Given the description of an element on the screen output the (x, y) to click on. 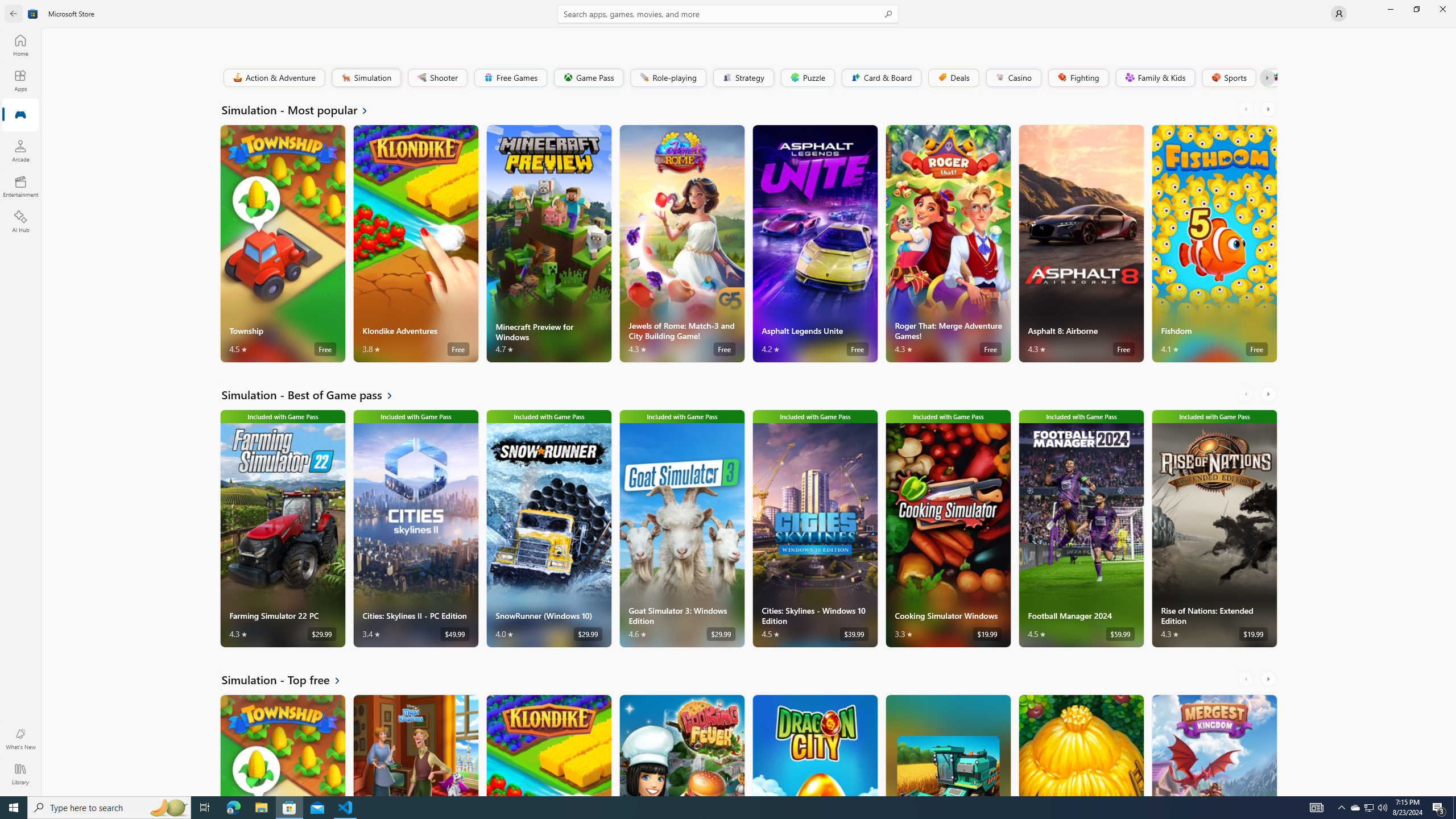
Entertainment (20, 185)
Minimize Microsoft Store (1390, 9)
See all  Simulation - Most popular (301, 109)
User profile (1338, 13)
The Tribez. Average rating of 4.6 out of five stars. Free   (1080, 745)
Arcade (20, 150)
Fighting (1078, 77)
Township. Average rating of 4.5 out of five stars. Free   (282, 745)
Search (727, 13)
AutomationID: RightScrollButton (1269, 678)
Dragon City. Average rating of 4.5 out of five stars. Free   (814, 745)
